Given the description of an element on the screen output the (x, y) to click on. 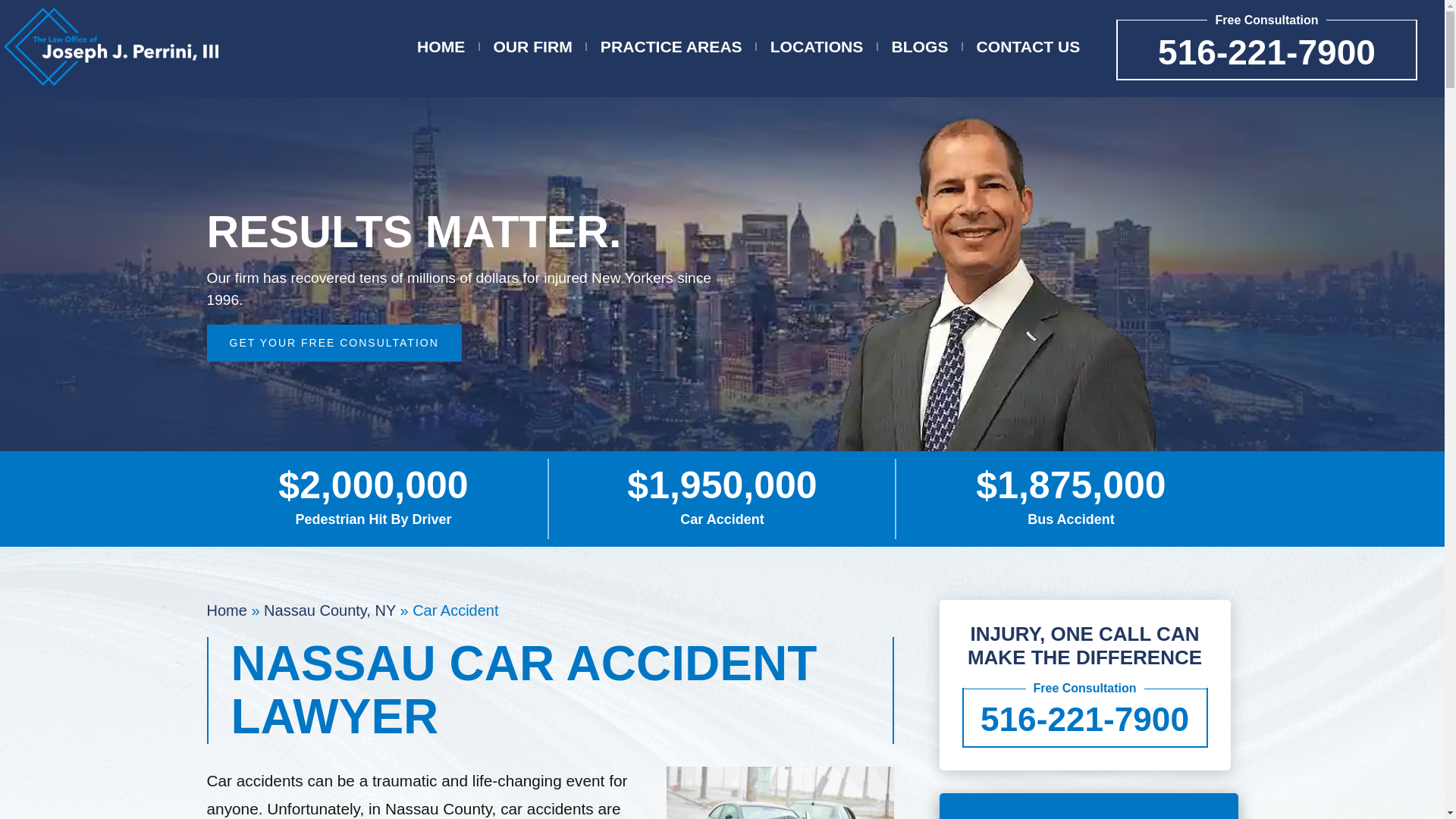
HOME (440, 47)
OUR FIRM (532, 47)
PRACTICE AREAS (670, 47)
LOCATIONS (816, 47)
